Given the description of an element on the screen output the (x, y) to click on. 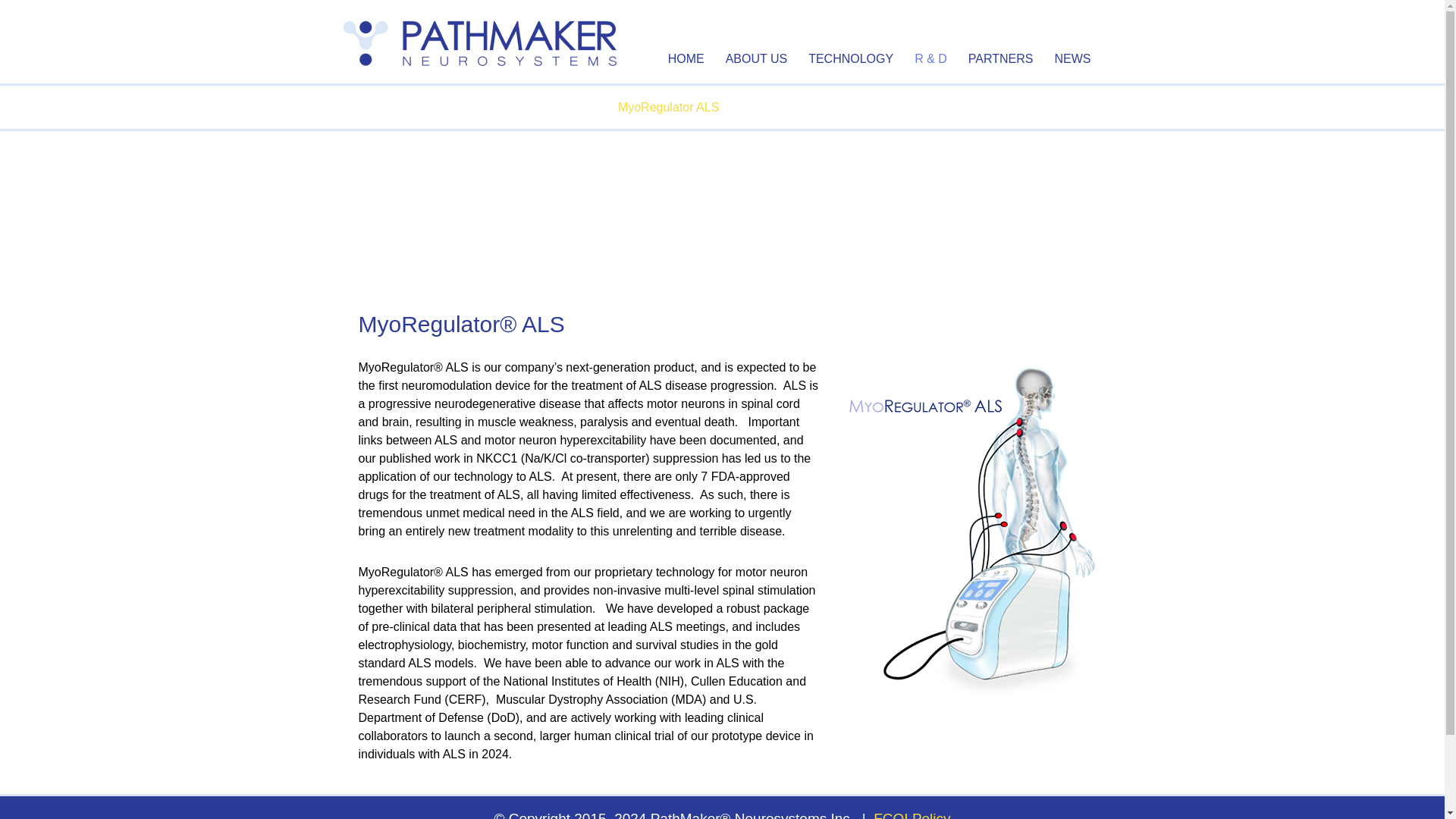
PARTNERS (1000, 58)
Partnering (1051, 97)
NEWS (1071, 58)
Press releases (1138, 97)
TECHNOLOGY (850, 58)
FCOI Policy (911, 814)
Overview (809, 97)
Product Pipeline (997, 97)
Therapeutic Indications (803, 106)
MyoRegulator ALS (668, 106)
